Given the description of an element on the screen output the (x, y) to click on. 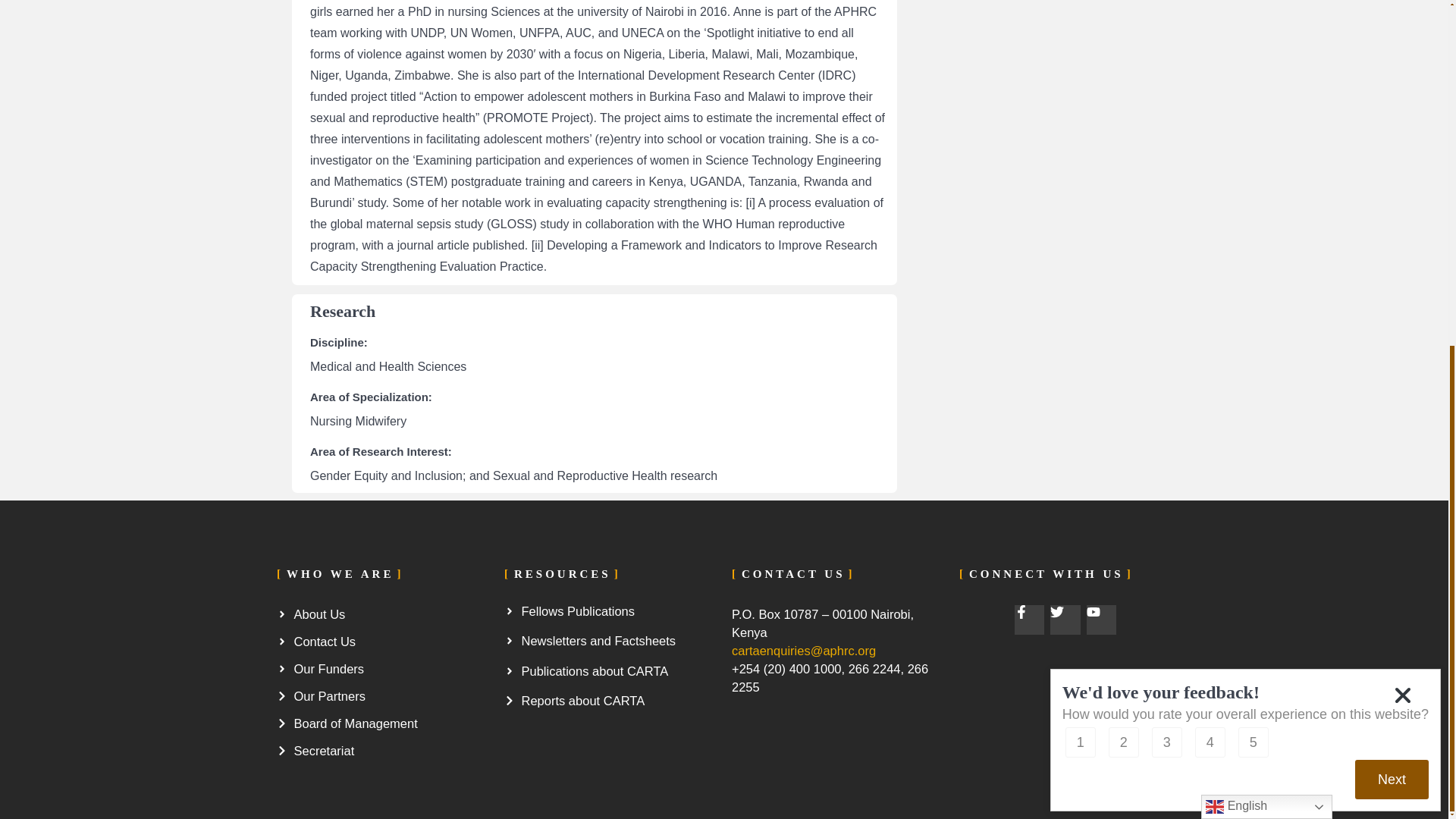
4 (1210, 146)
3 (1166, 146)
5 (1253, 146)
2 (1123, 146)
1 (1080, 146)
